Given the description of an element on the screen output the (x, y) to click on. 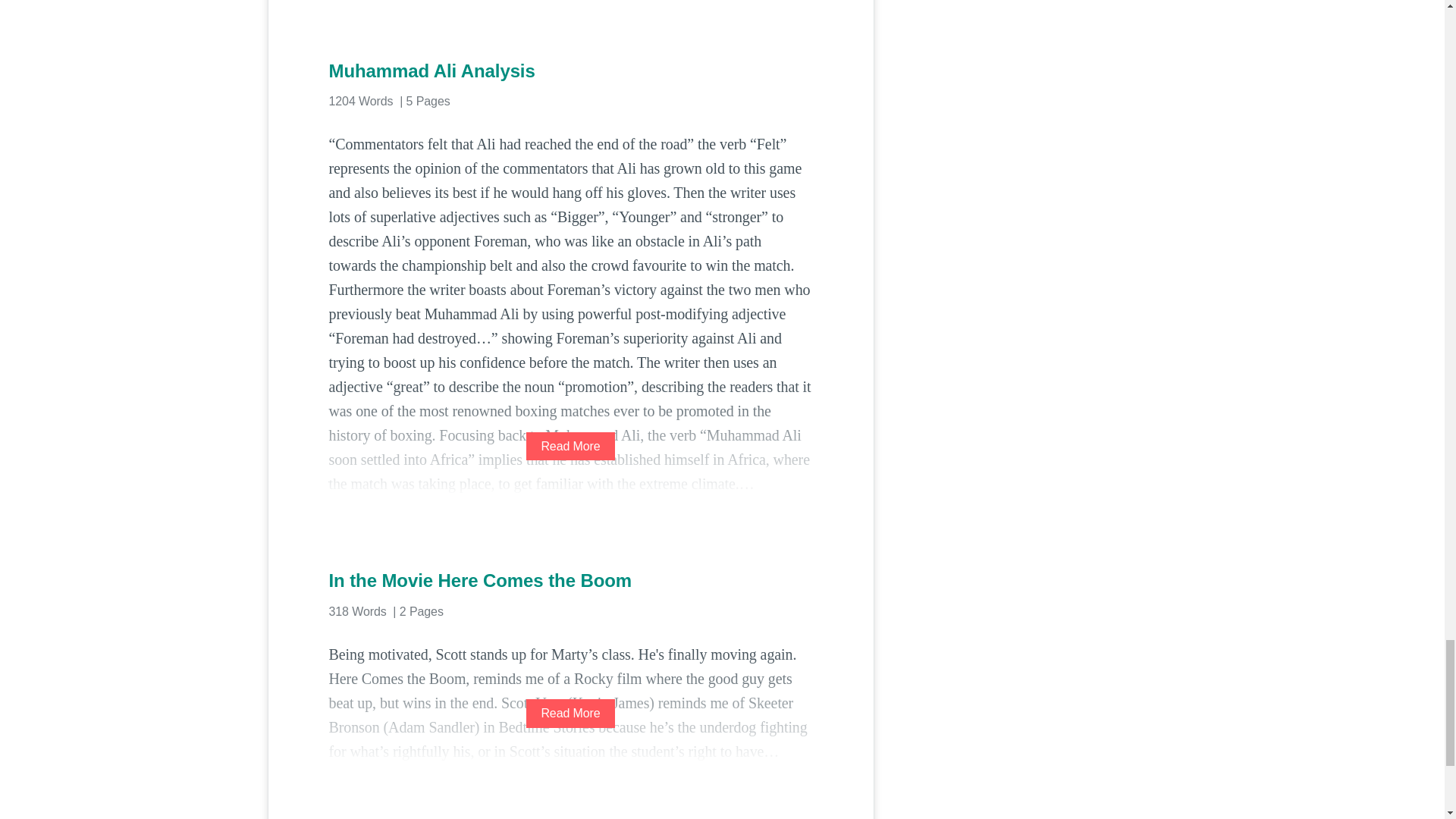
Muhammad Ali Analysis (570, 70)
Read More (569, 713)
In the Movie Here Comes the Boom (570, 580)
Read More (569, 446)
